Given the description of an element on the screen output the (x, y) to click on. 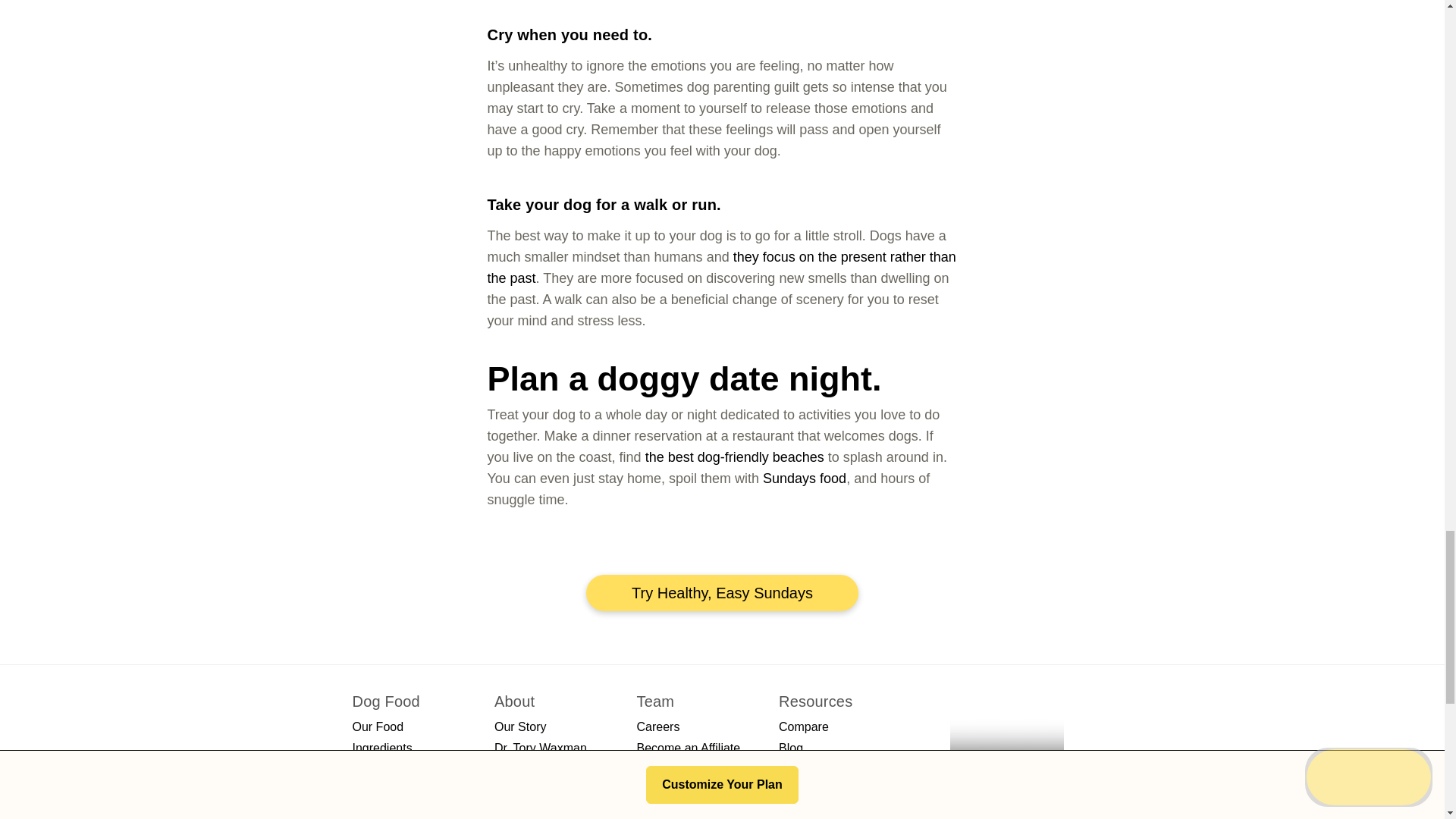
Sign Up (516, 789)
Our Story (520, 726)
Dr. Tory Waxman (540, 748)
Our Food (377, 726)
they focus on the present rather than the past (720, 267)
Try Healthy, Easy Sundays (722, 592)
Careers (658, 726)
the best dog-friendly beaches (734, 457)
Become an Affiliate (689, 748)
Reviews (374, 768)
Sundays food (803, 478)
Log In (511, 768)
Ingredients (382, 748)
Become an Ambassador (670, 777)
